Given the description of an element on the screen output the (x, y) to click on. 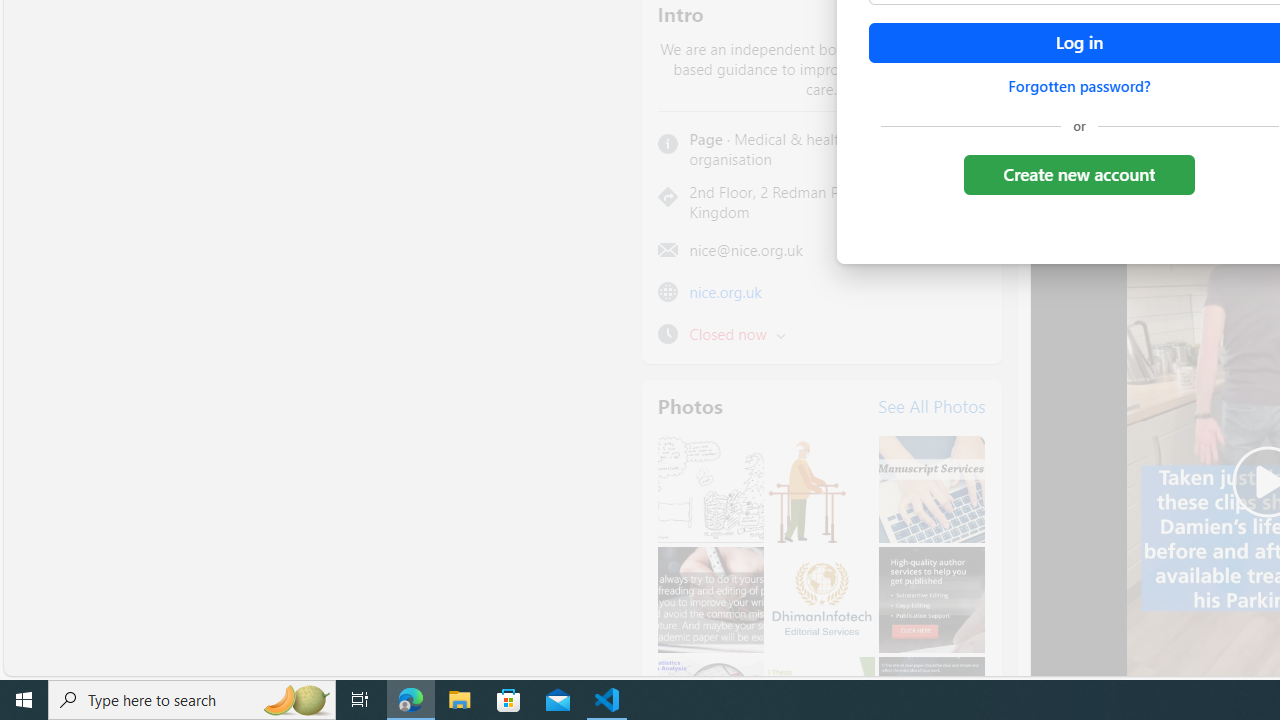
Create new account (1078, 174)
